Given the description of an element on the screen output the (x, y) to click on. 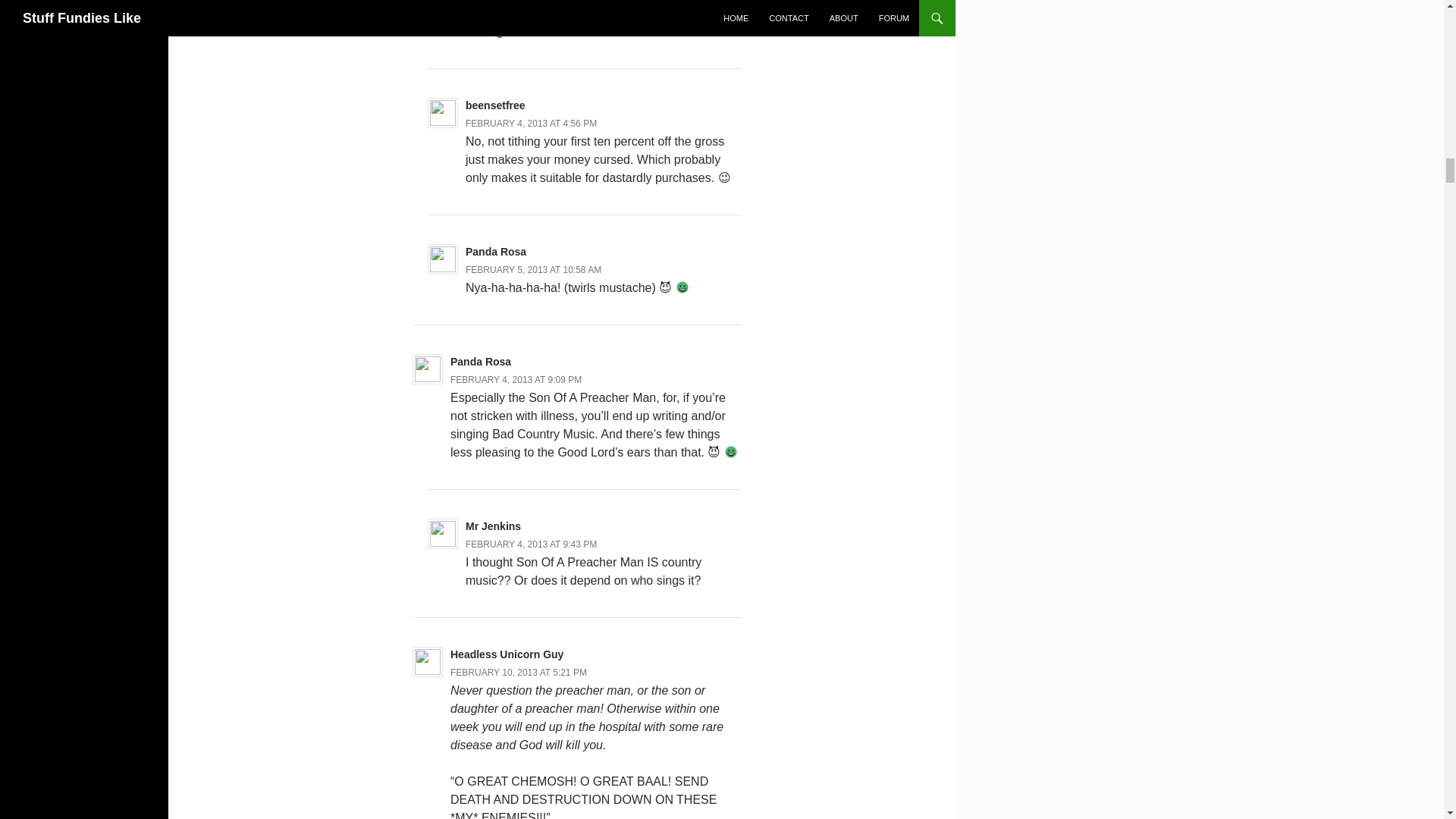
FEBRUARY 5, 2013 AT 10:58 AM (533, 269)
FEBRUARY 4, 2013 AT 4:56 PM (530, 122)
FEBRUARY 4, 2013 AT 9:09 PM (514, 379)
